Given the description of an element on the screen output the (x, y) to click on. 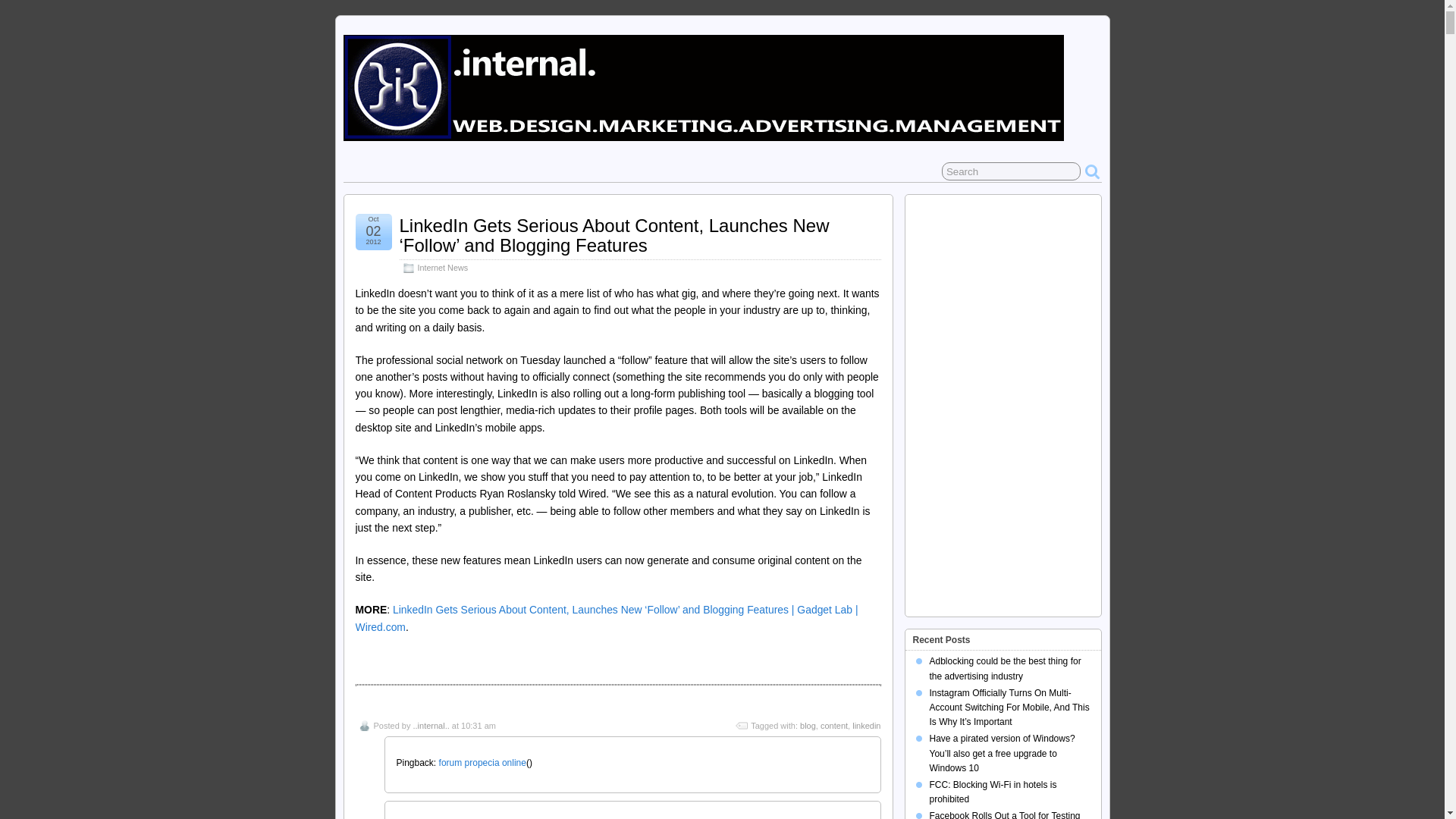
Search (1011, 171)
content (834, 725)
forum propecia online (482, 762)
..internal.. (430, 725)
linkedin (865, 725)
blog (807, 725)
Search (1011, 171)
Internet News (441, 266)
Advertisement (1007, 498)
